Given the description of an element on the screen output the (x, y) to click on. 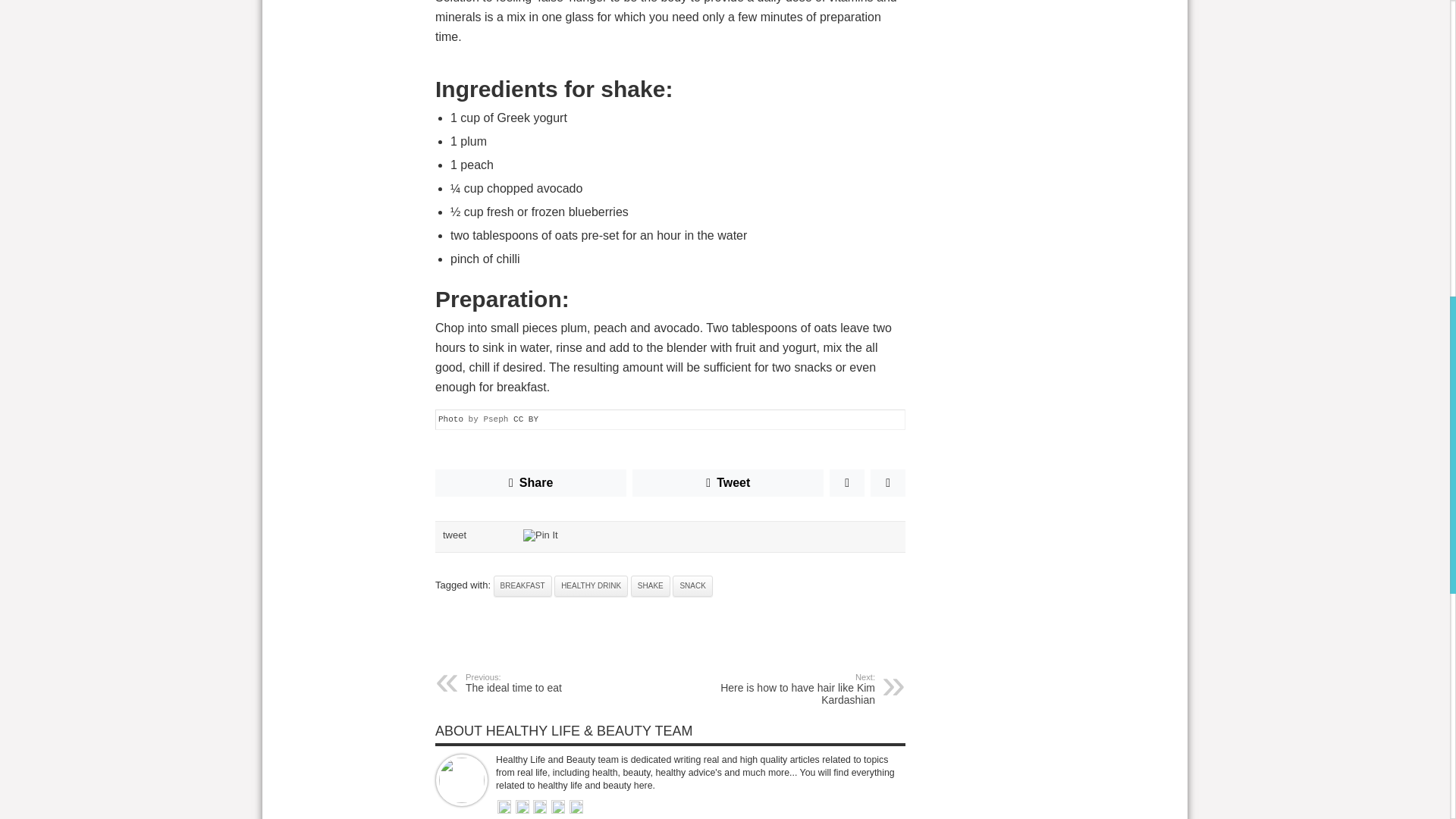
Photo (450, 419)
Pin It (539, 535)
CC BY (525, 419)
